Given the description of an element on the screen output the (x, y) to click on. 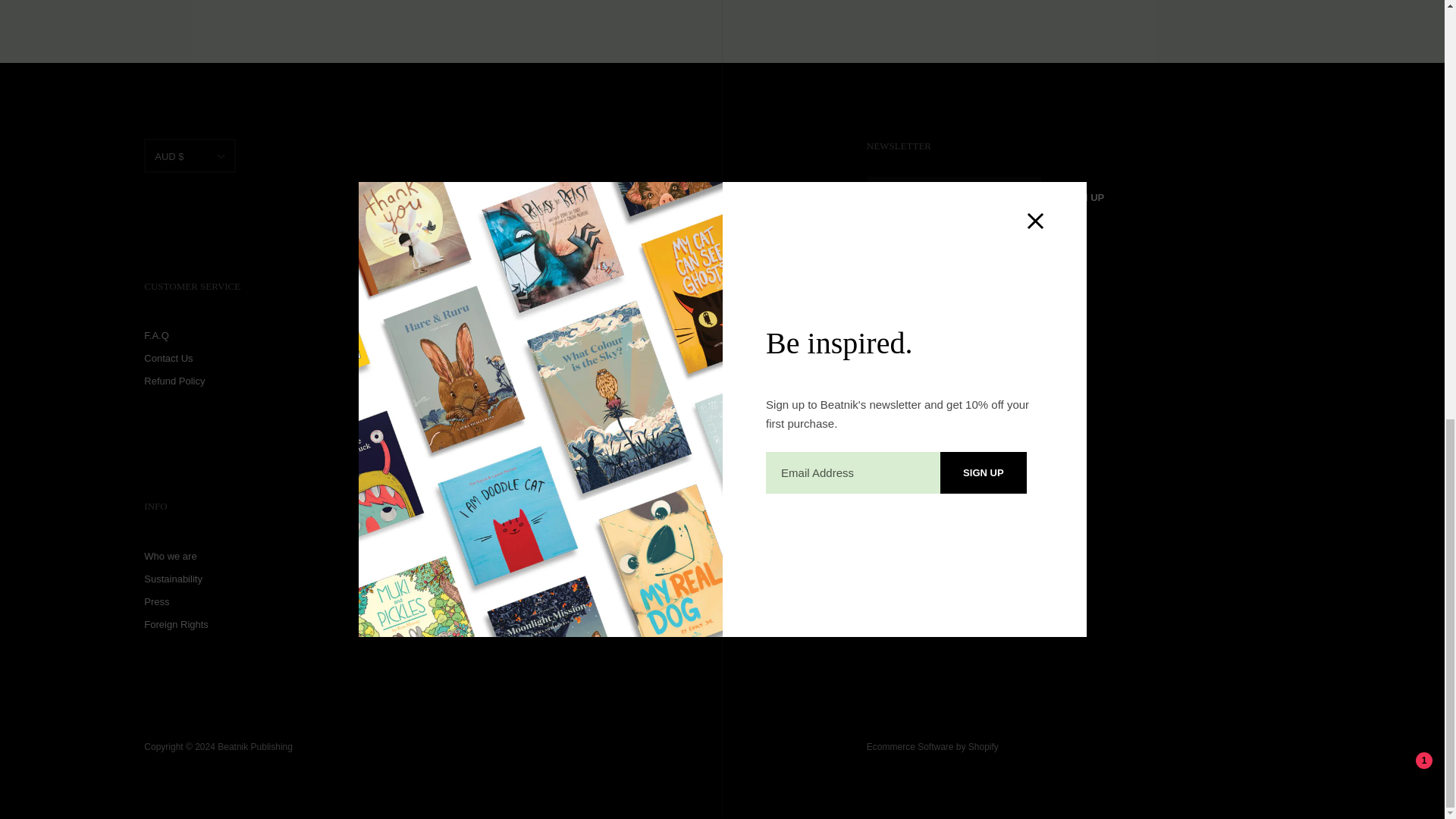
Privacy Policy (949, 262)
